Given the description of an element on the screen output the (x, y) to click on. 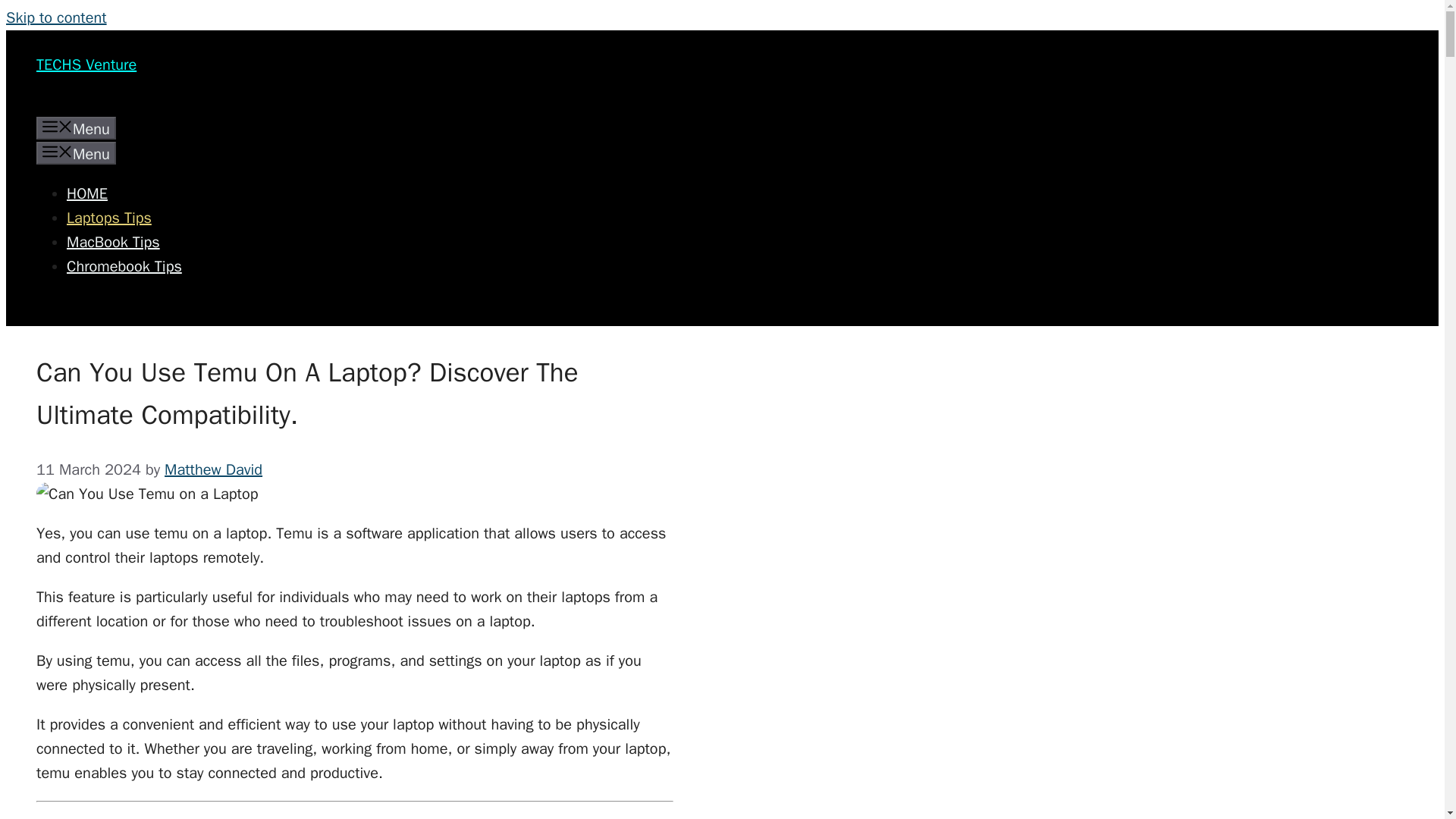
View all posts by Matthew David (213, 469)
Skip to content (55, 17)
Menu (76, 152)
HOME (86, 193)
Chromebook Tips (124, 266)
Menu (76, 128)
TECHS Venture (86, 64)
Laptops Tips (108, 217)
MacBook Tips (113, 241)
Matthew David (213, 469)
